Given the description of an element on the screen output the (x, y) to click on. 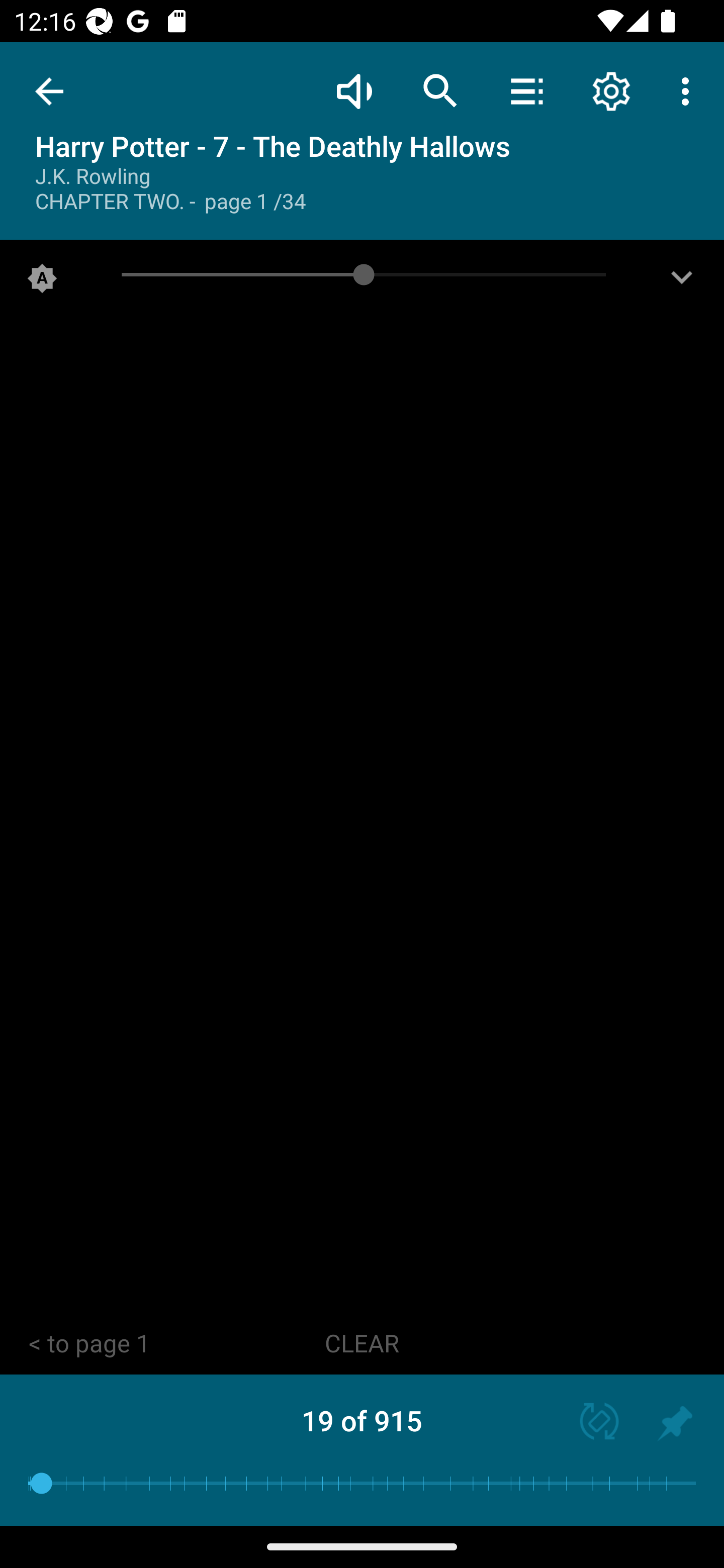
Exit reading (49, 91)
Read aloud (354, 90)
Text search (440, 90)
Contents / Bookmarks / Quotes (526, 90)
Reading settings (611, 90)
More options (688, 90)
Selected screen brightness (42, 281)
Screen brightness settings (681, 281)
< to page 1 (89, 1344)
CLEAR (361, 1344)
19 of 915 (361, 1420)
Screen orientation (590, 1423)
Add to history (674, 1423)
